Given the description of an element on the screen output the (x, y) to click on. 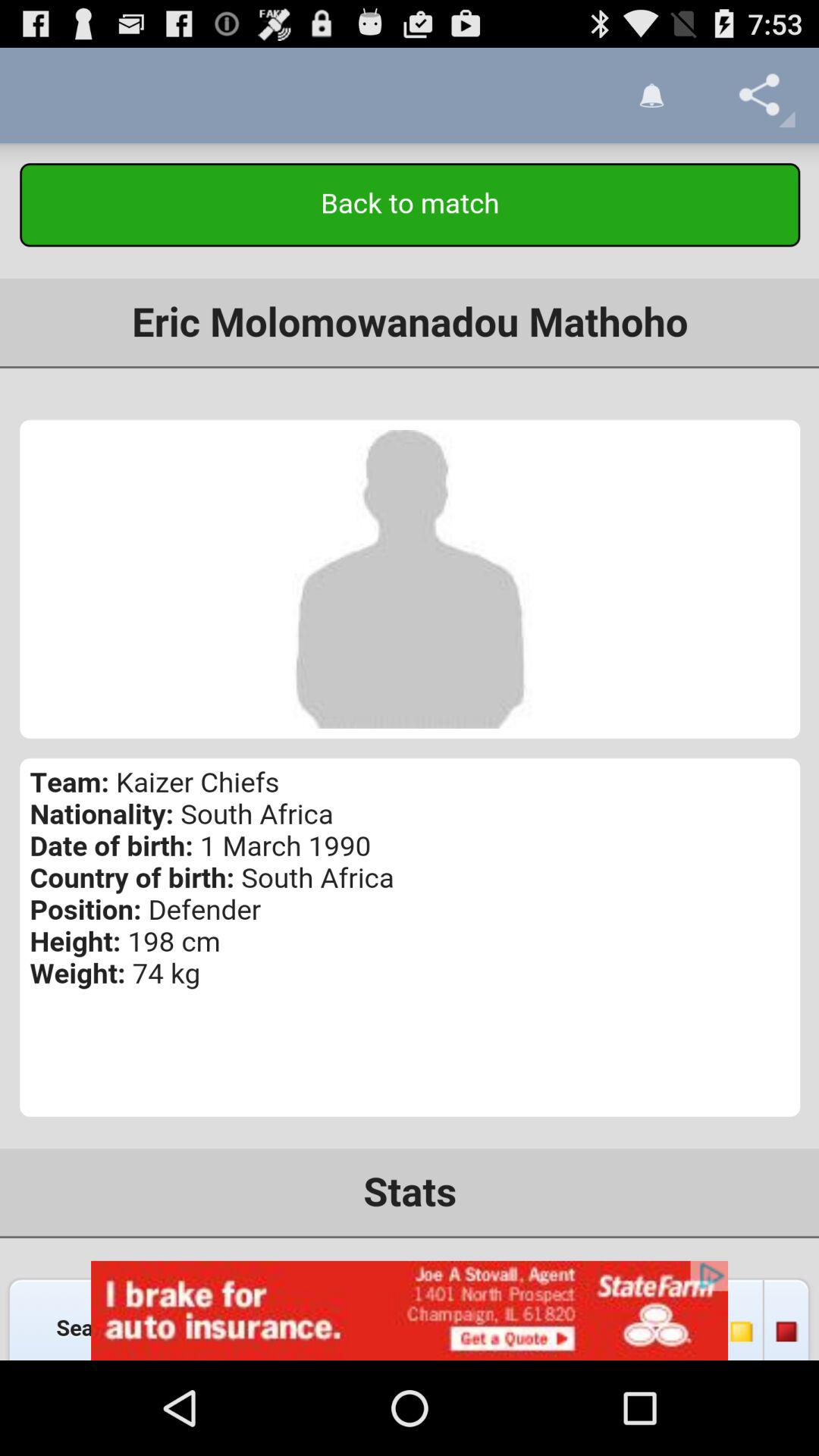
advertising (409, 1310)
